Given the description of an element on the screen output the (x, y) to click on. 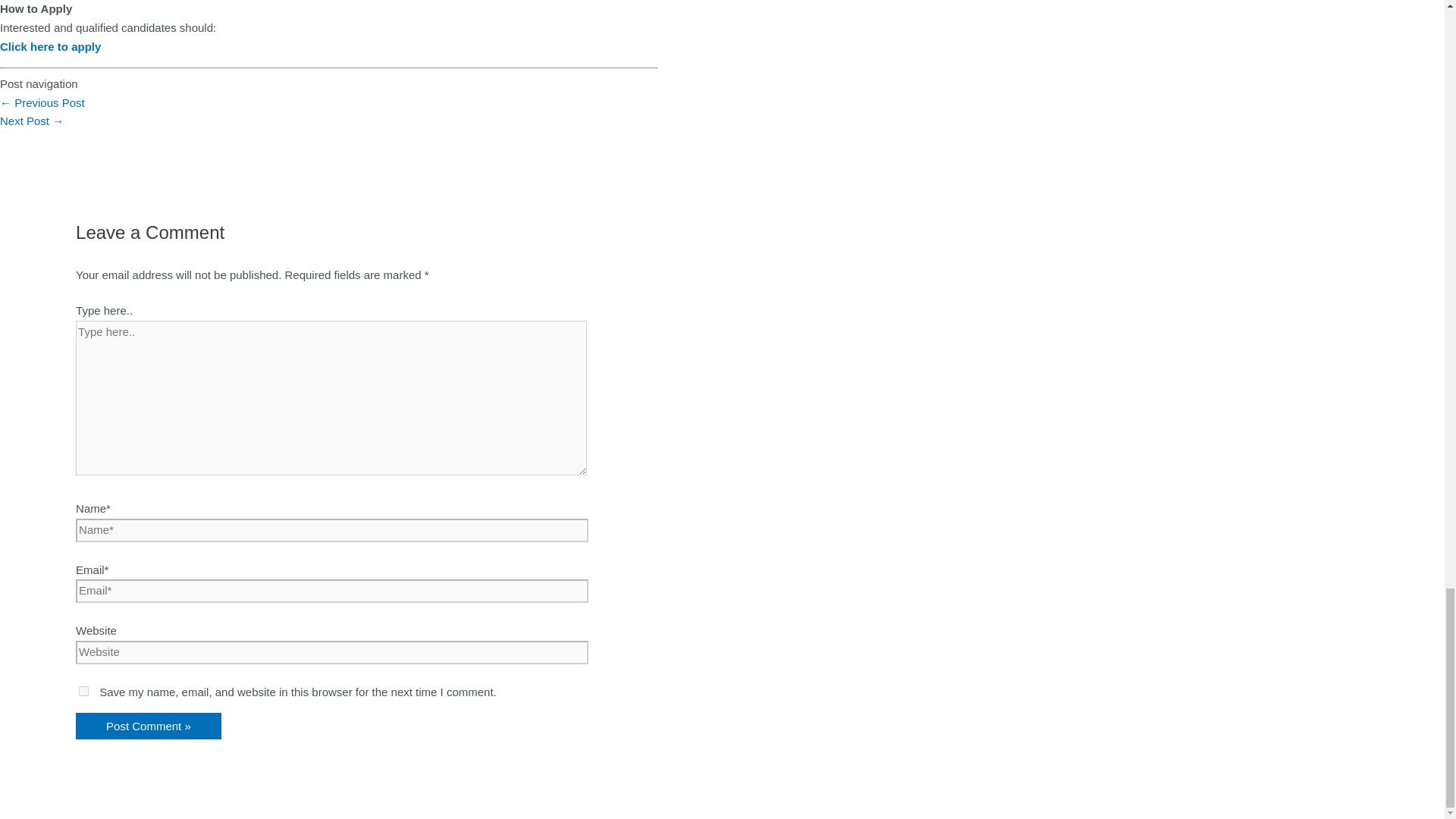
Click here to apply (50, 46)
yes (83, 691)
